Given the description of an element on the screen output the (x, y) to click on. 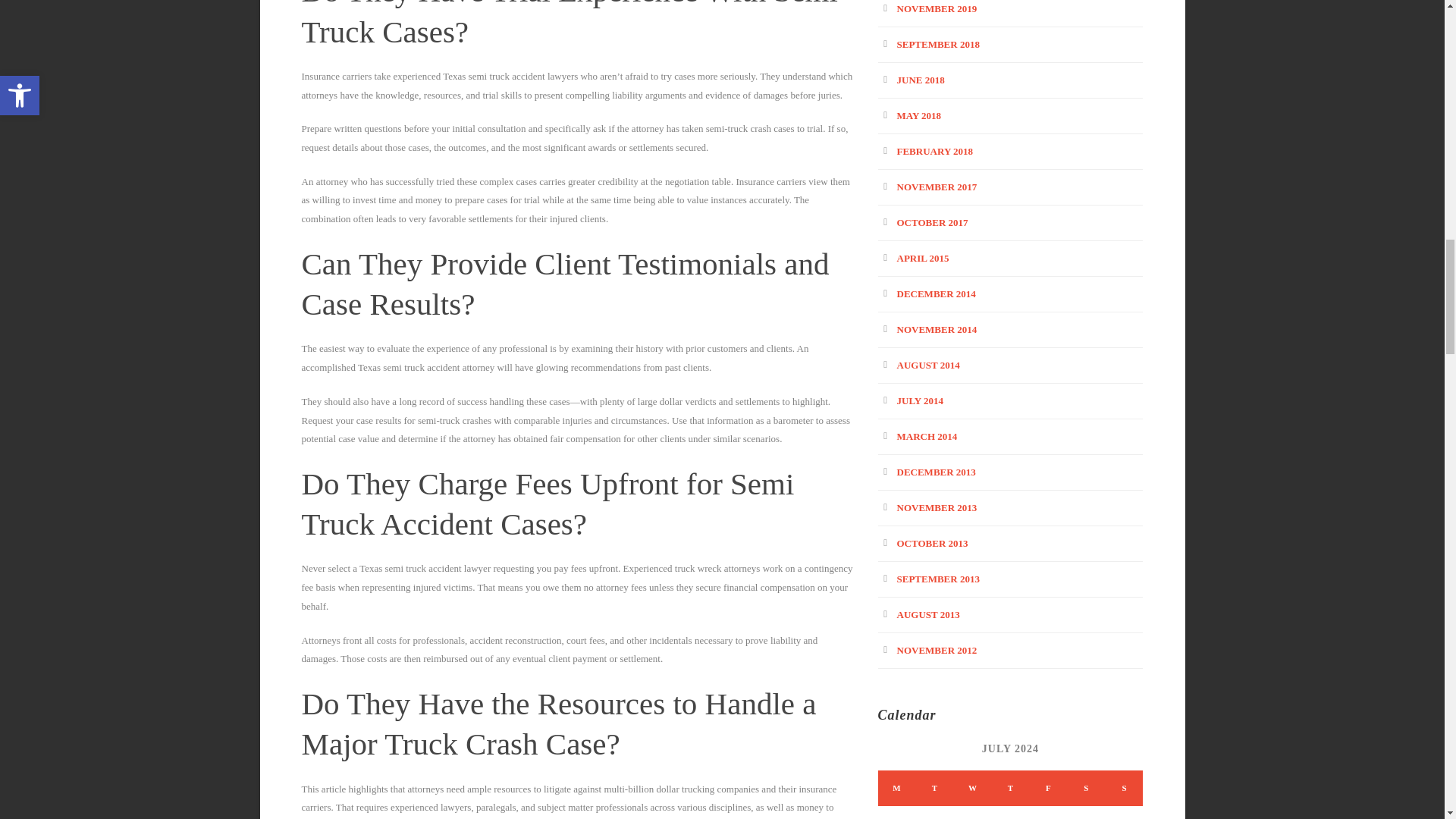
Friday (1048, 787)
Thursday (1010, 787)
Sunday (1123, 787)
Tuesday (934, 787)
Monday (896, 787)
Wednesday (972, 787)
Saturday (1086, 787)
